Given the description of an element on the screen output the (x, y) to click on. 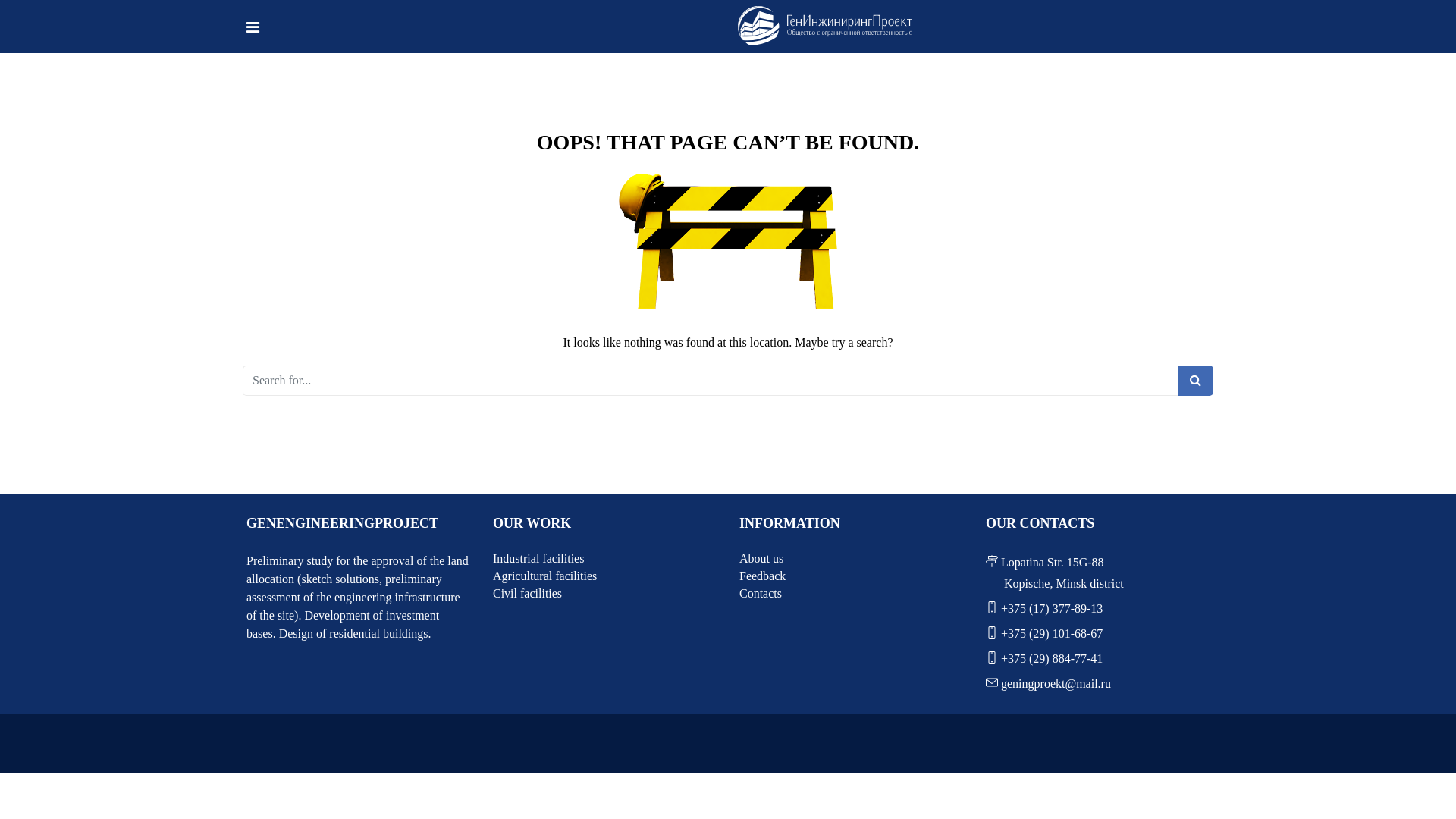
Agricultural facilities Element type: text (604, 576)
+375 (29) 884-77-41 Element type: text (1049, 658)
Feedback Element type: text (851, 576)
Civil facilities Element type: text (604, 593)
Contacts Element type: text (851, 593)
+375 (29) 101-68-67 Element type: text (1049, 633)
GenEngineeringProject Element type: hover (824, 26)
GenEngineeringProject Element type: hover (824, 25)
geningproekt@mail.ru Element type: text (1053, 683)
Industrial facilities Element type: text (604, 558)
+375 (17) 377-89-13 Element type: text (1049, 608)
About us Element type: text (851, 558)
